Given the description of an element on the screen output the (x, y) to click on. 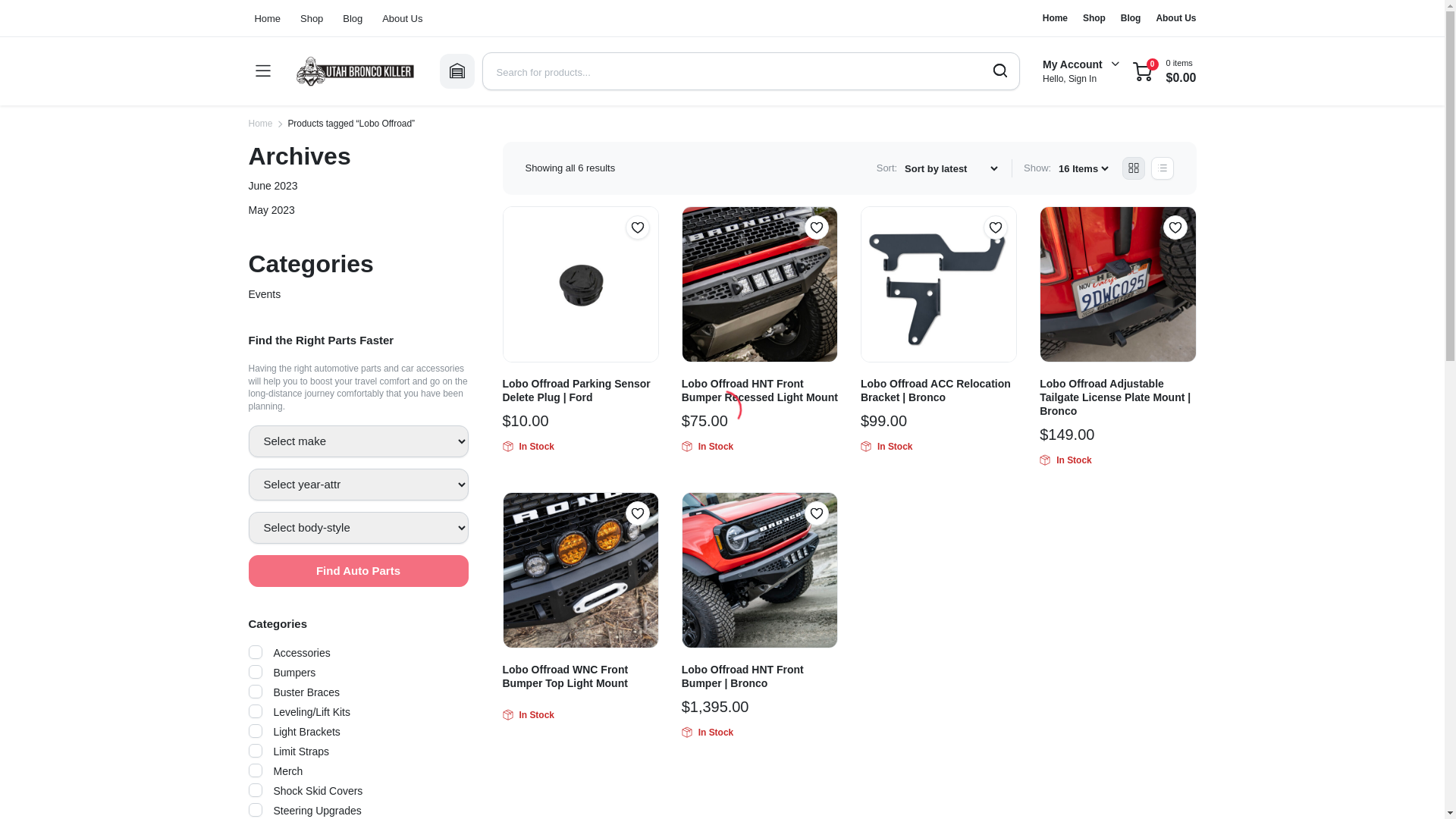
Blog (1131, 18)
Add to Wishlist (995, 227)
Blog (352, 18)
Add to Wishlist (816, 227)
Home (1054, 18)
Shop (1094, 18)
About Us (1175, 18)
Home (269, 18)
Add to Wishlist (637, 227)
About Us (402, 18)
Shop (311, 18)
Grid Products (1133, 168)
Home (260, 123)
Lobo Offroad HNT Front Bumper Recessed Light Mount (759, 390)
